Given the description of an element on the screen output the (x, y) to click on. 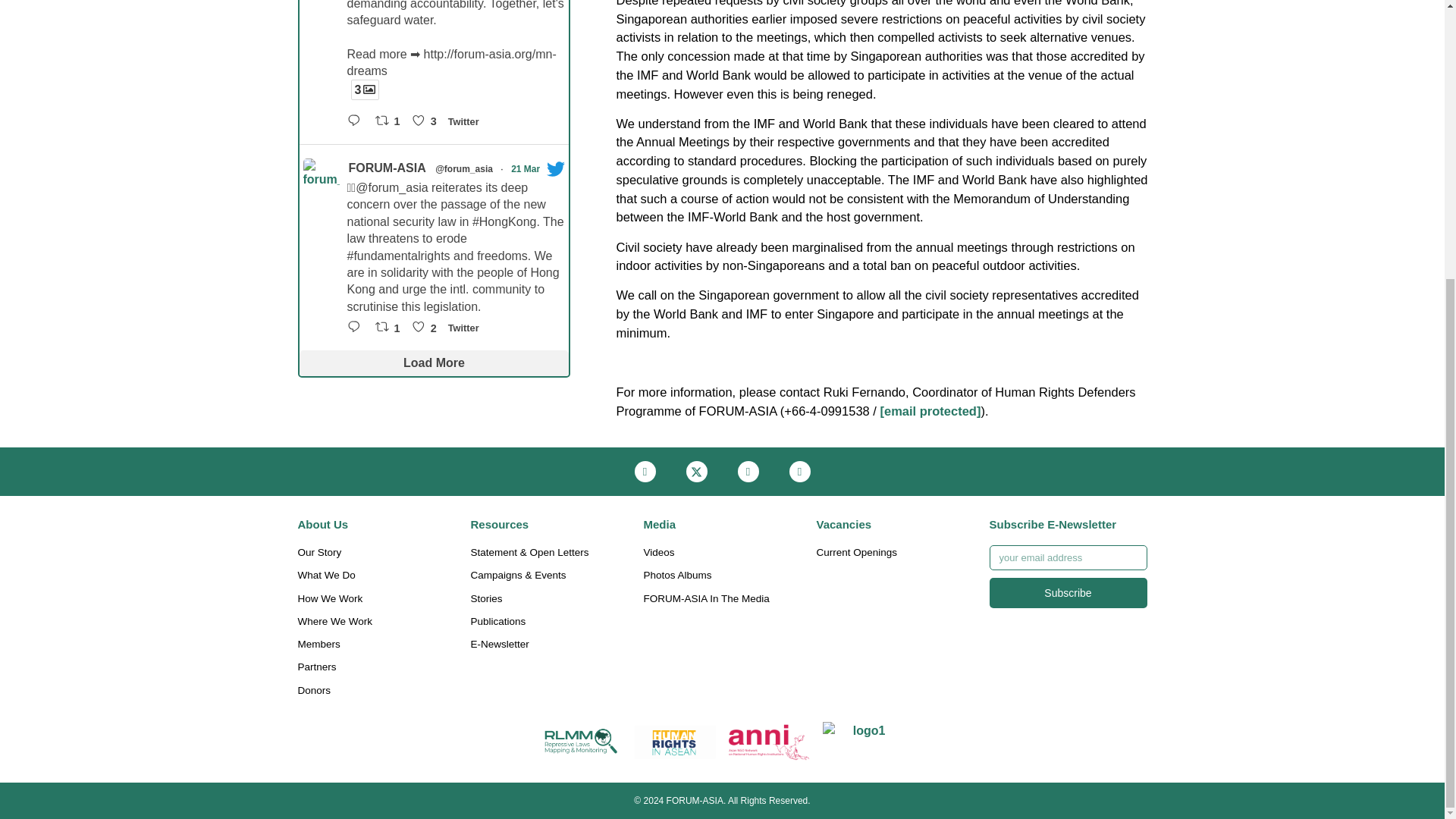
Default Title (769, 741)
Default Title (863, 741)
Logo (582, 741)
Default Title (675, 741)
